Given the description of an element on the screen output the (x, y) to click on. 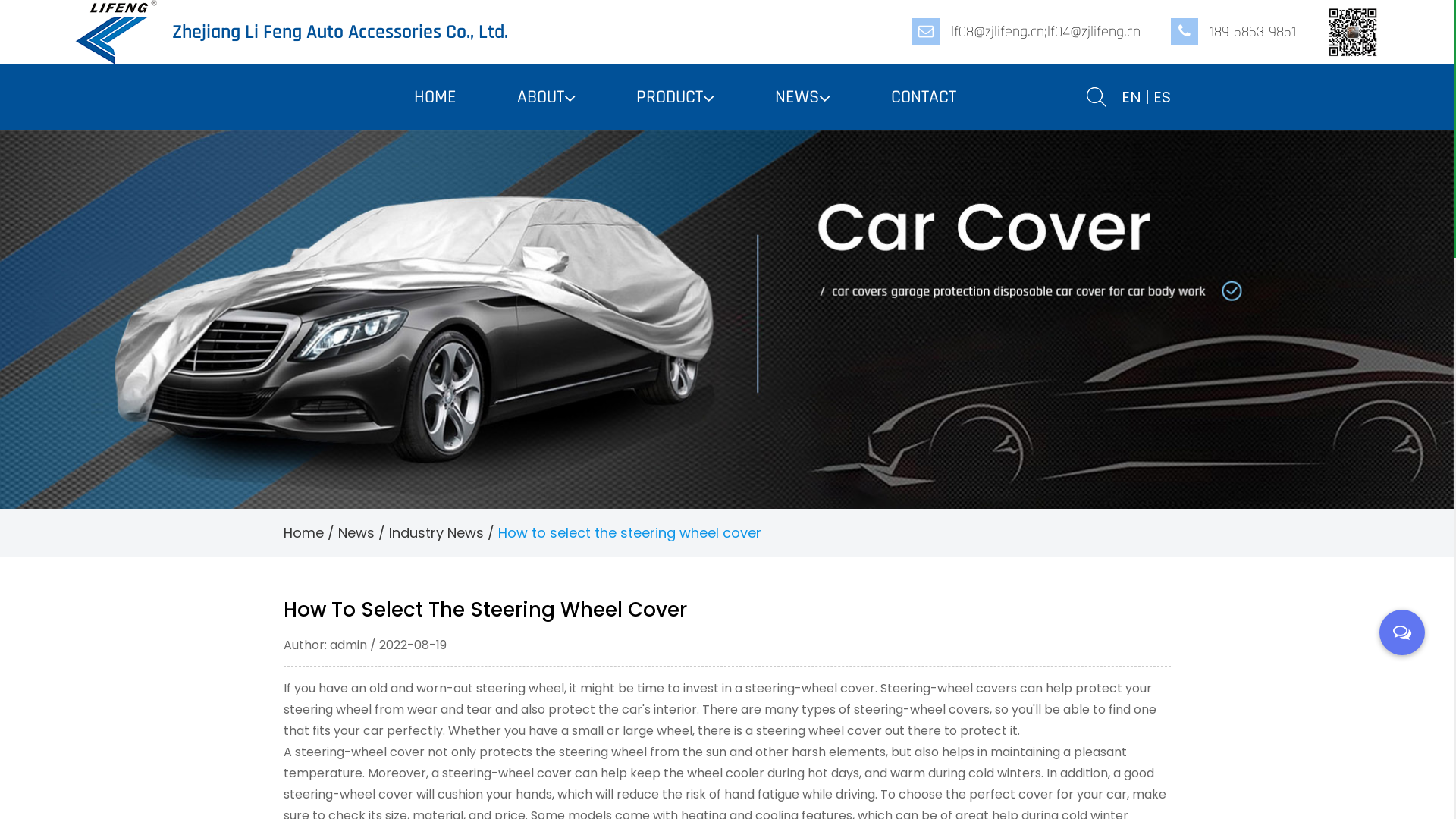
NEWS Element type: text (802, 97)
ABOUT Element type: text (546, 97)
EN Element type: text (1130, 96)
PRODUCT Element type: text (674, 97)
HOME Element type: text (435, 96)
News Element type: text (356, 532)
steering-wheel cover Element type: text (358, 751)
ES Element type: text (1161, 96)
Industry News Element type: text (435, 532)
Home Element type: text (303, 532)
CONTACT Element type: text (922, 96)
